Given the description of an element on the screen output the (x, y) to click on. 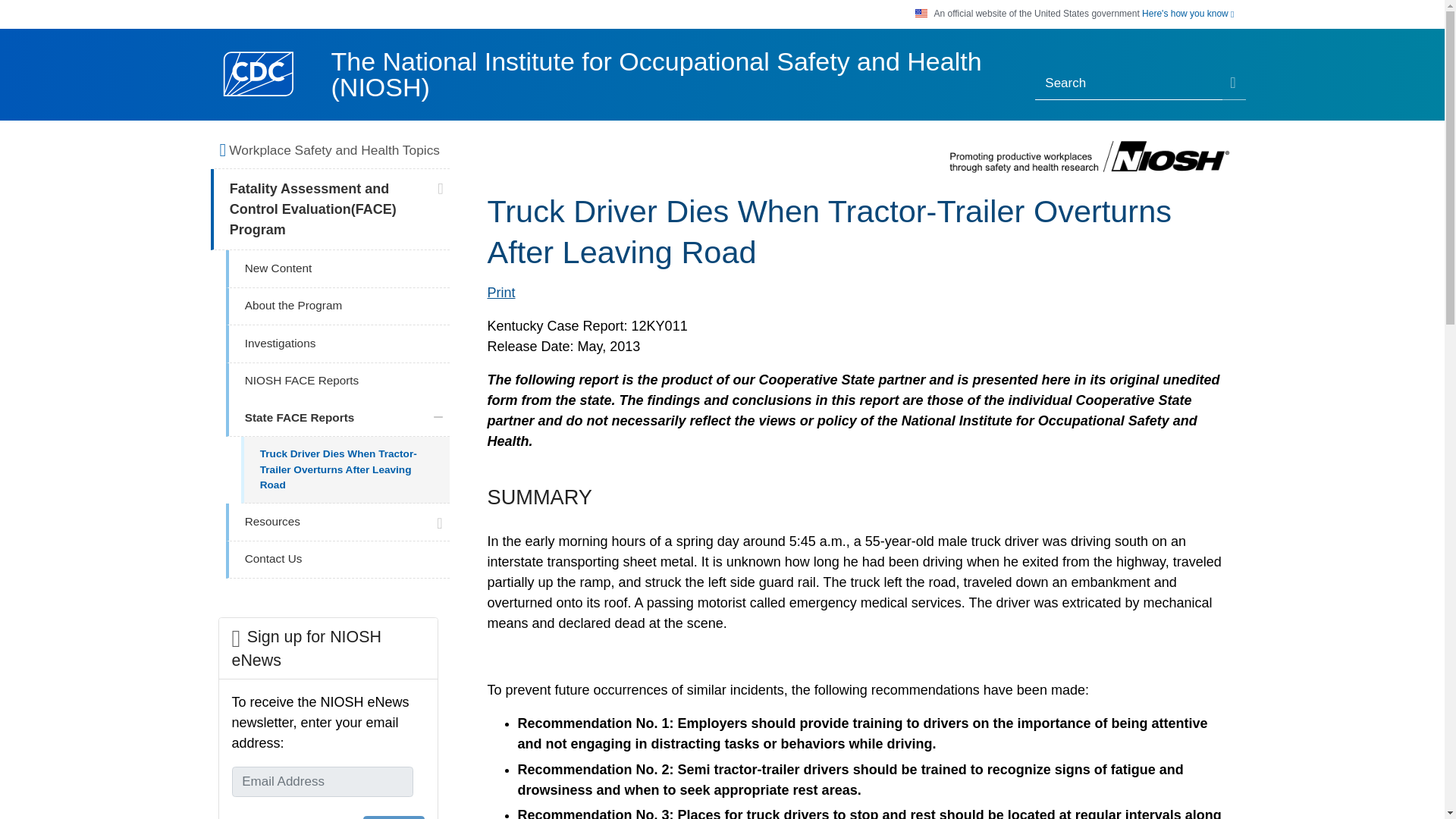
Here's how you know (1187, 14)
collapse (437, 417)
Email Address (322, 781)
